Given the description of an element on the screen output the (x, y) to click on. 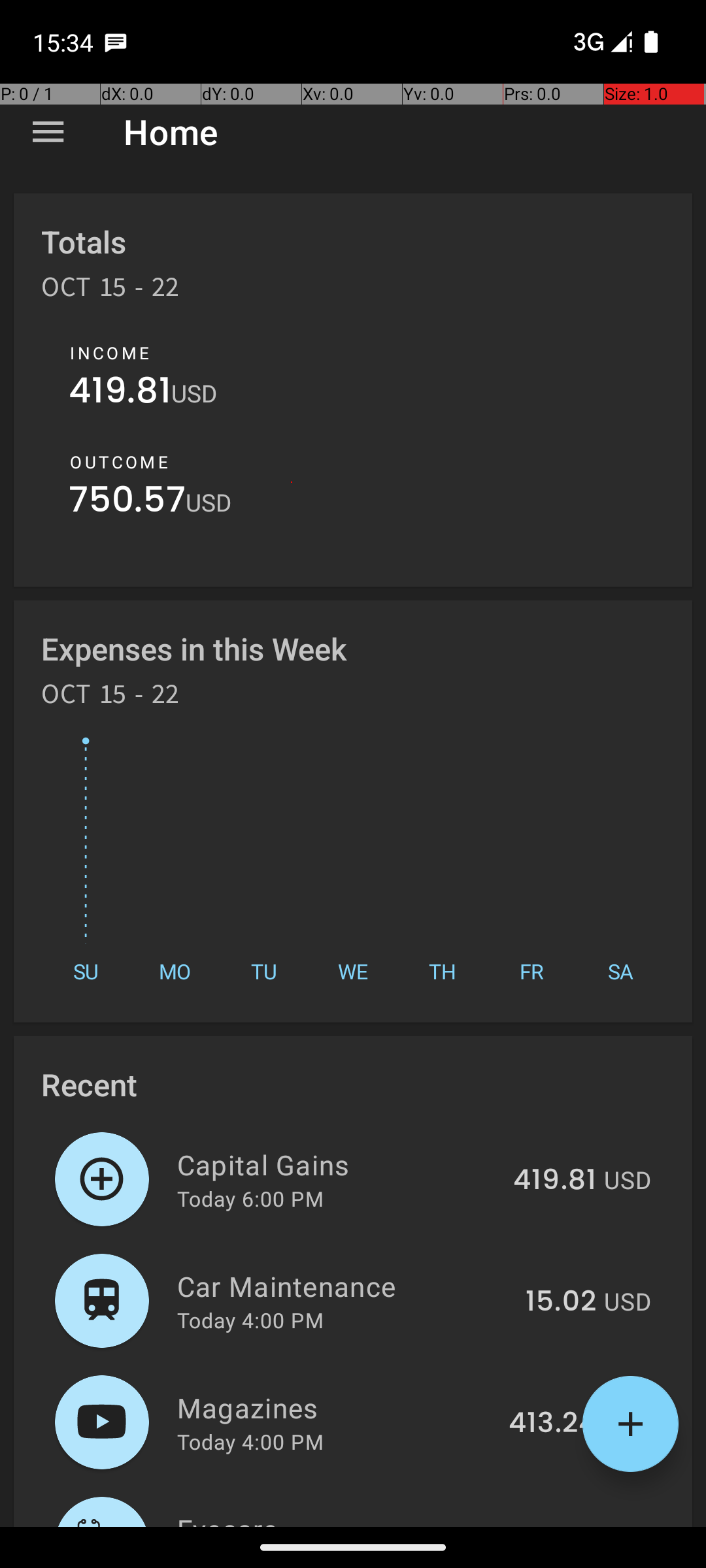
419.81 Element type: android.widget.TextView (119, 393)
750.57 Element type: android.widget.TextView (126, 502)
Capital Gains Element type: android.widget.TextView (337, 1164)
Today 6:00 PM Element type: android.widget.TextView (250, 1198)
Car Maintenance Element type: android.widget.TextView (343, 1285)
Today 4:00 PM Element type: android.widget.TextView (250, 1320)
15.02 Element type: android.widget.TextView (560, 1301)
Magazines Element type: android.widget.TextView (335, 1407)
413.24 Element type: android.widget.TextView (551, 1423)
Eyecare Element type: android.widget.TextView (341, 1518)
113.41 Element type: android.widget.TextView (558, 1524)
